Given the description of an element on the screen output the (x, y) to click on. 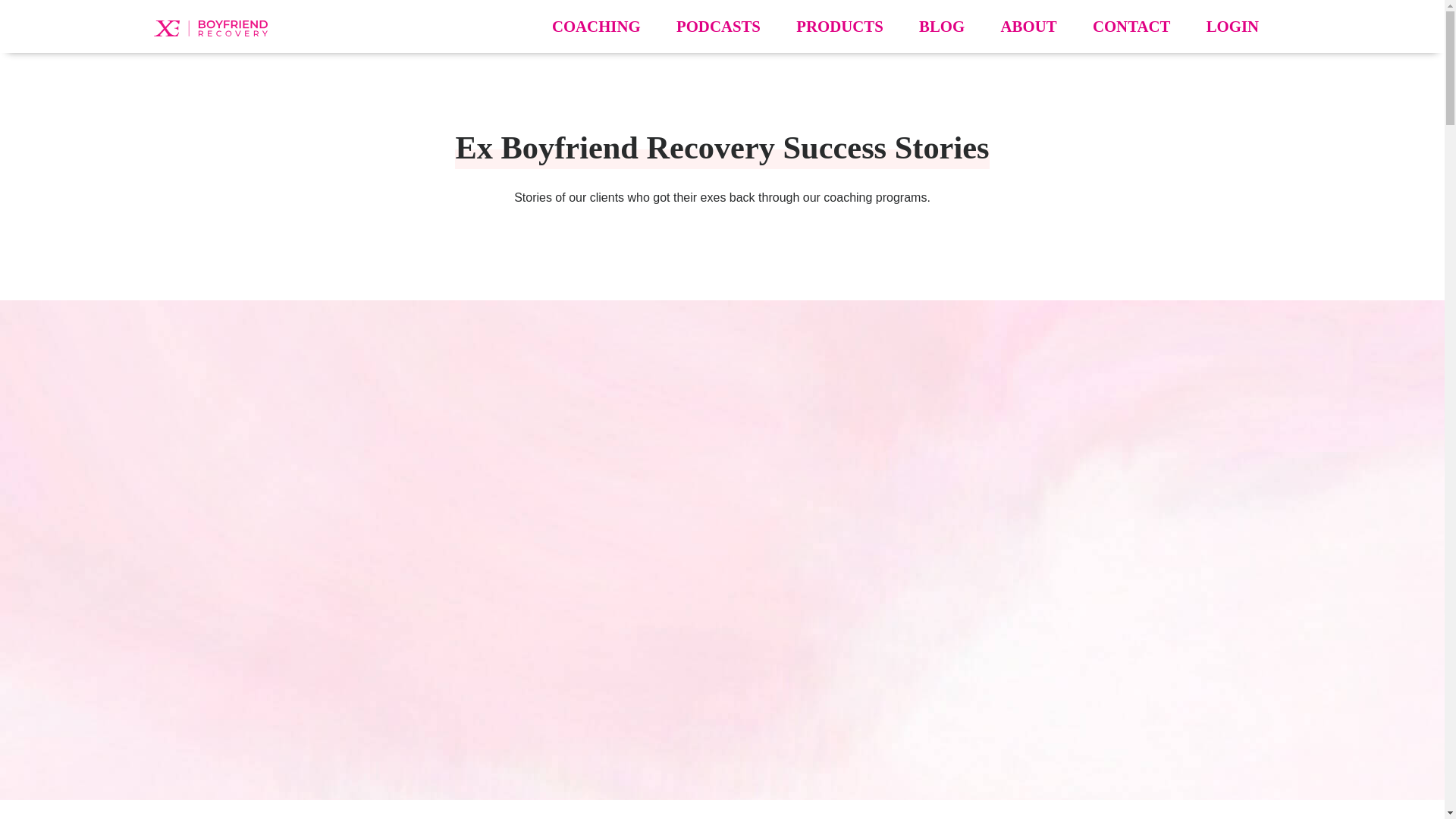
CONTACT (1131, 26)
COACHING (595, 26)
ABOUT (1029, 26)
PODCASTS (718, 26)
PRODUCTS (839, 26)
BLOG (940, 26)
LOGIN (1233, 26)
